Given the description of an element on the screen output the (x, y) to click on. 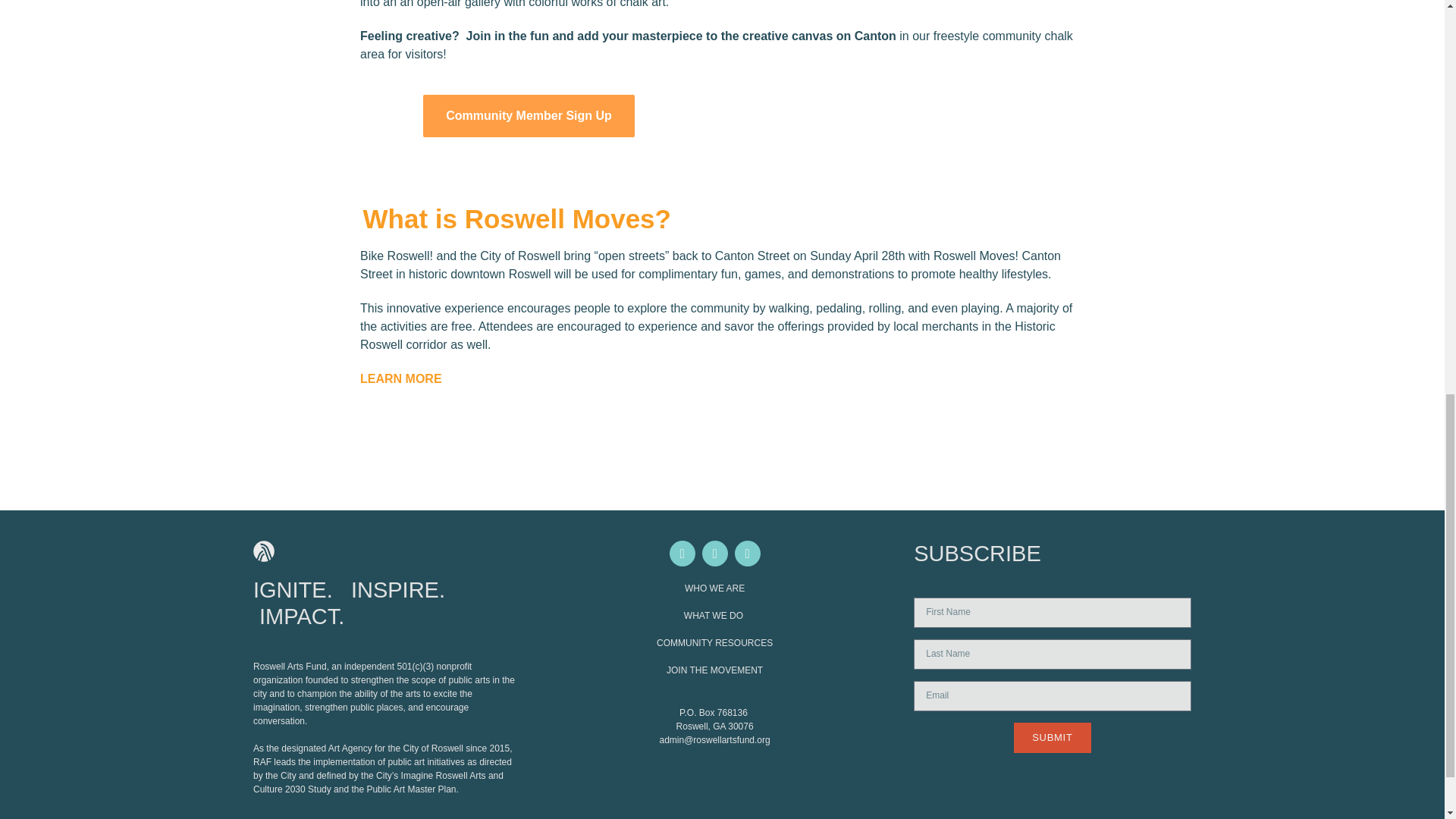
LEARN MORE (400, 378)
Community Member Sign Up (528, 116)
